Given the description of an element on the screen output the (x, y) to click on. 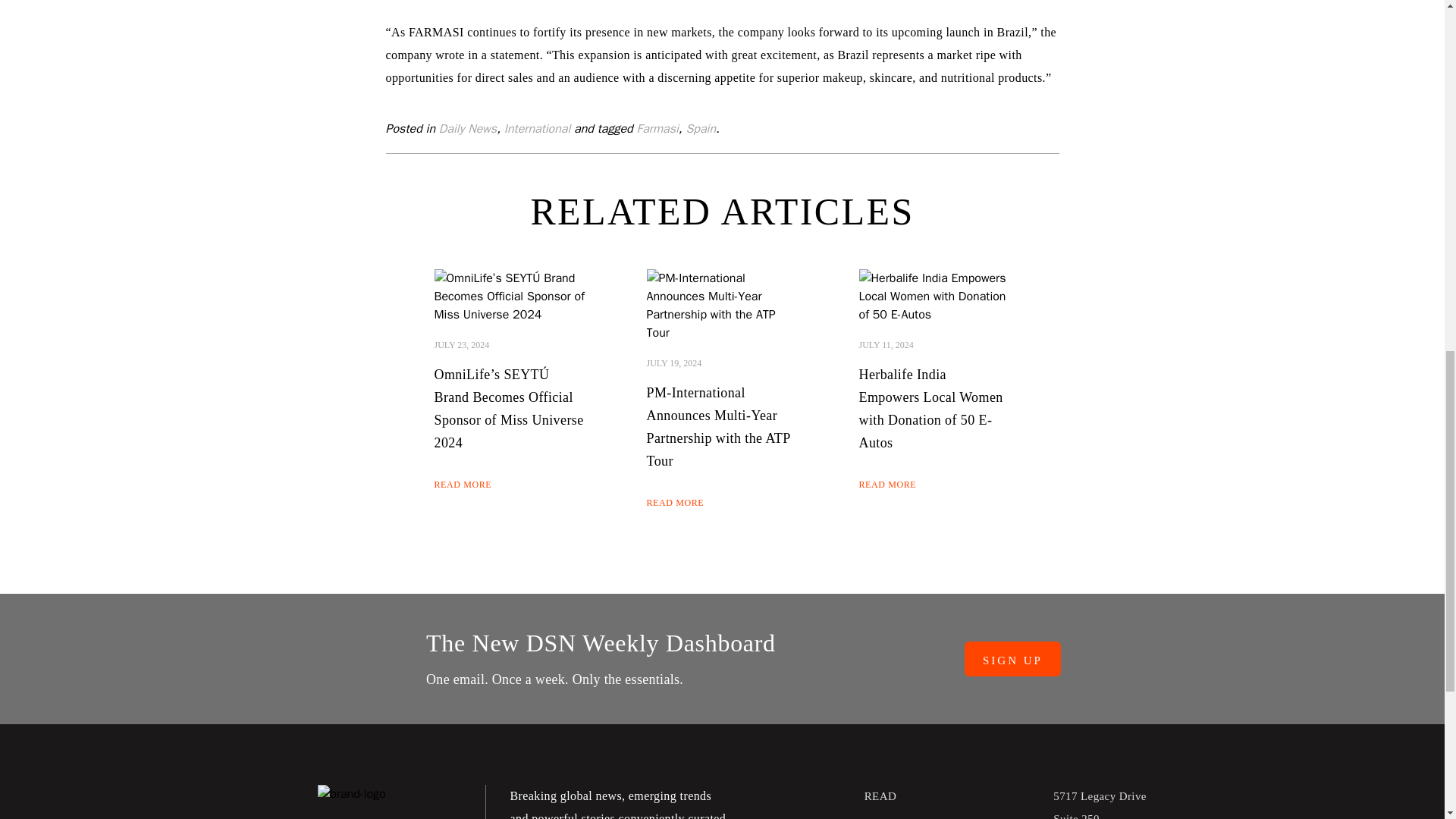
Sign Up (1012, 659)
